Given the description of an element on the screen output the (x, y) to click on. 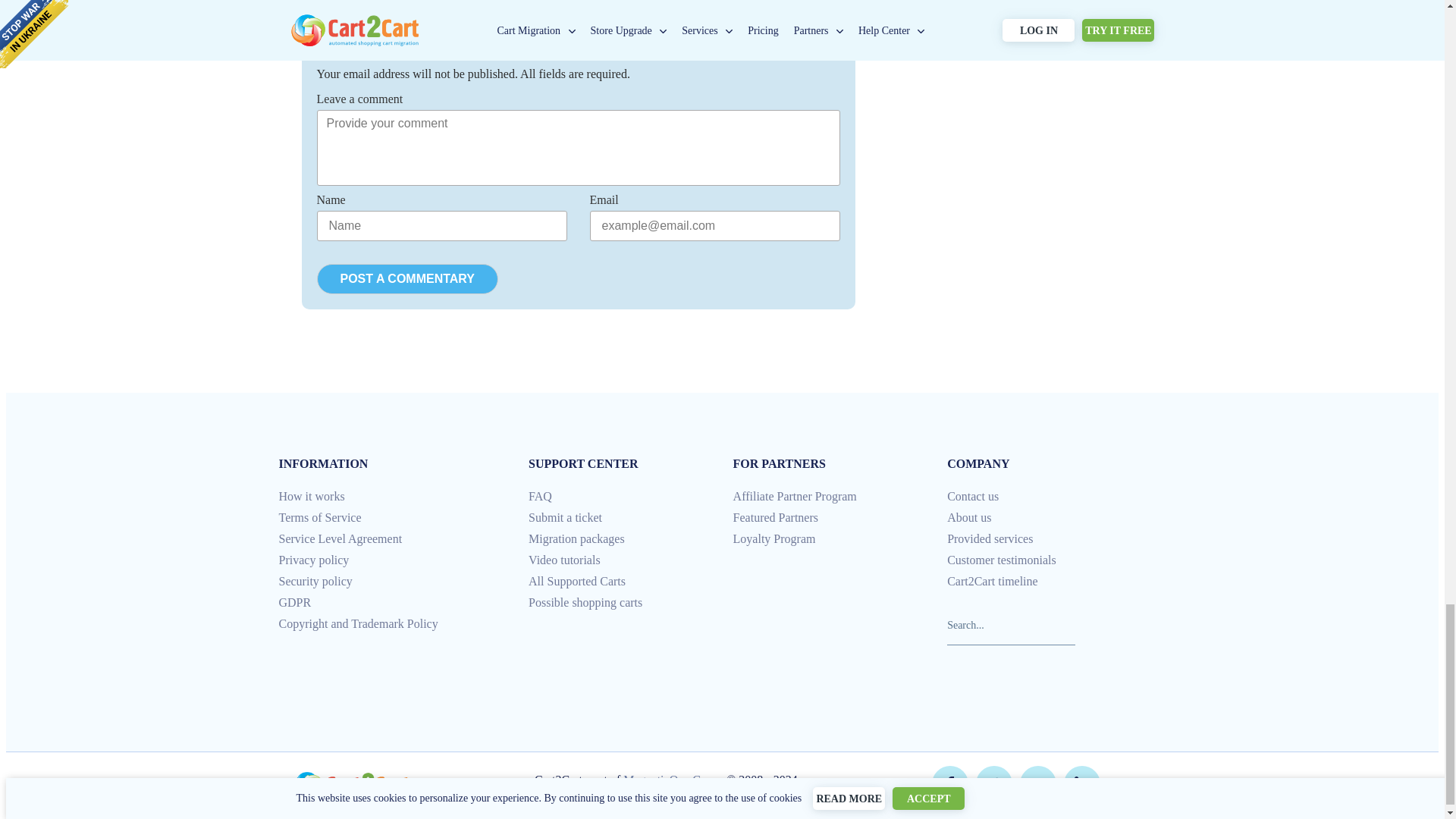
Post a Commentary (407, 278)
